Given the description of an element on the screen output the (x, y) to click on. 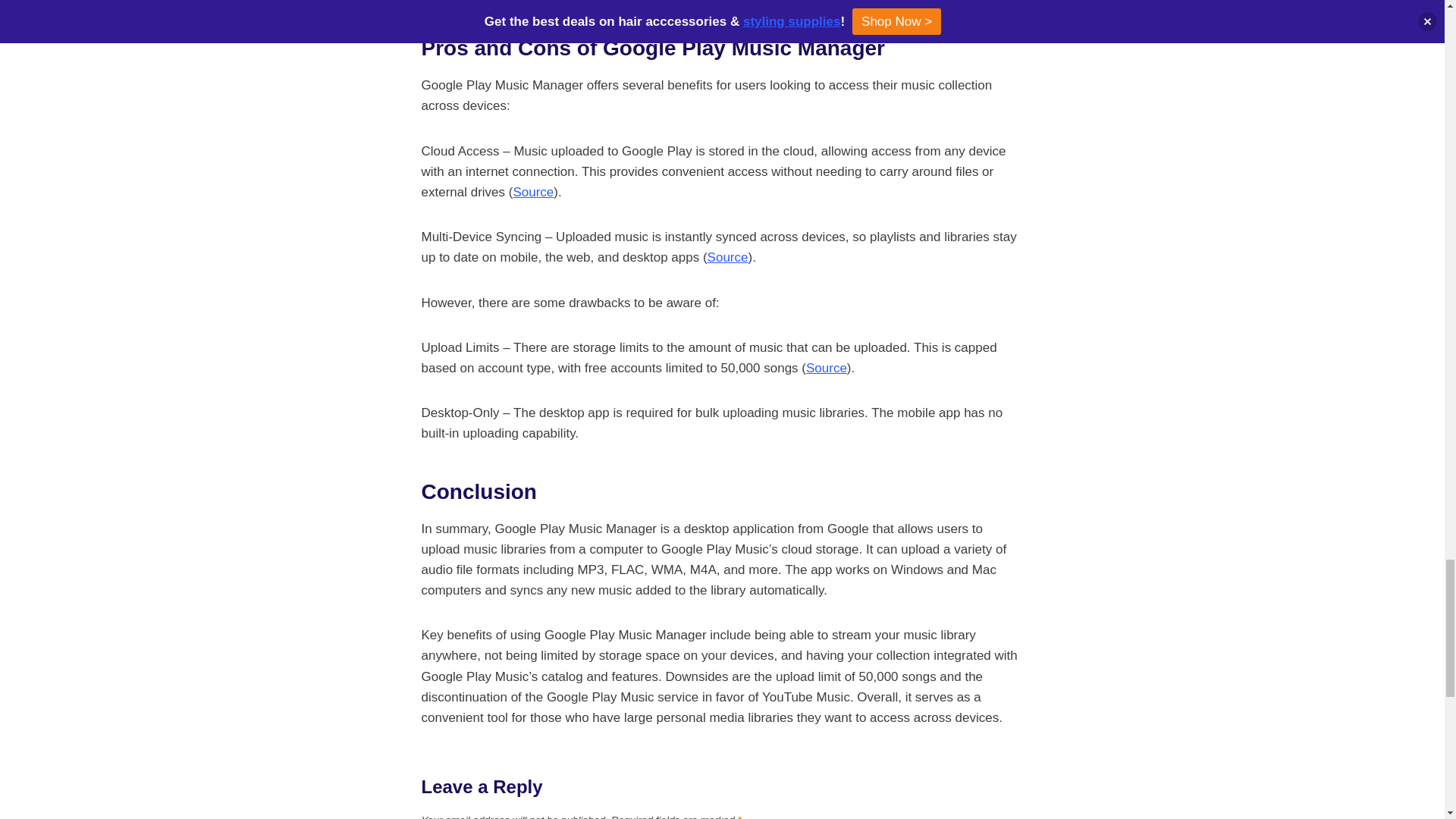
Source (532, 192)
Source (727, 257)
Source (826, 368)
